Given the description of an element on the screen output the (x, y) to click on. 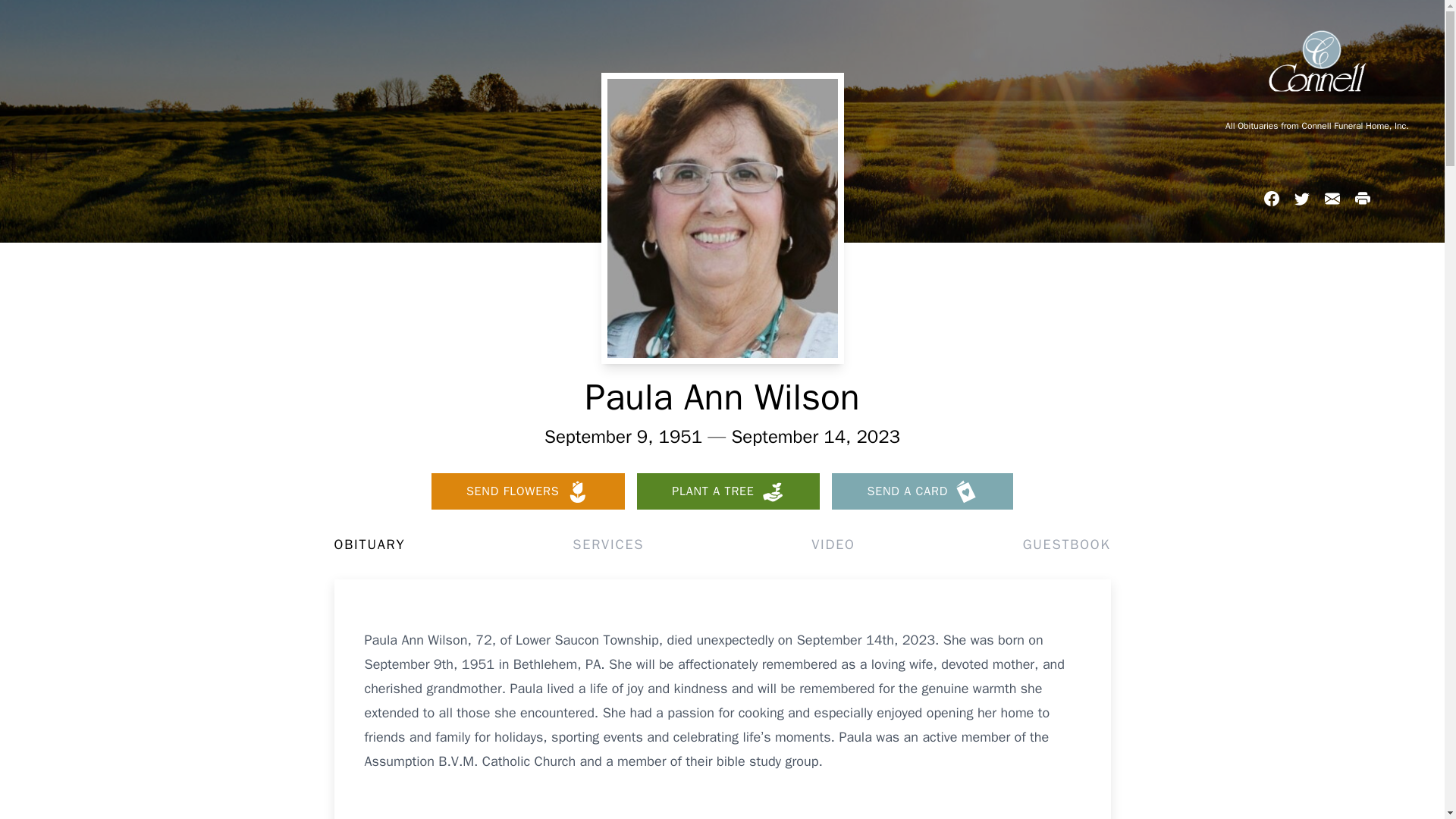
VIDEO (833, 544)
PLANT A TREE (728, 491)
SEND FLOWERS (527, 491)
SERVICES (607, 544)
OBITUARY (368, 544)
SEND A CARD (922, 491)
GUESTBOOK (1066, 544)
All Obituaries from Connell Funeral Home, Inc. (1316, 125)
